Given the description of an element on the screen output the (x, y) to click on. 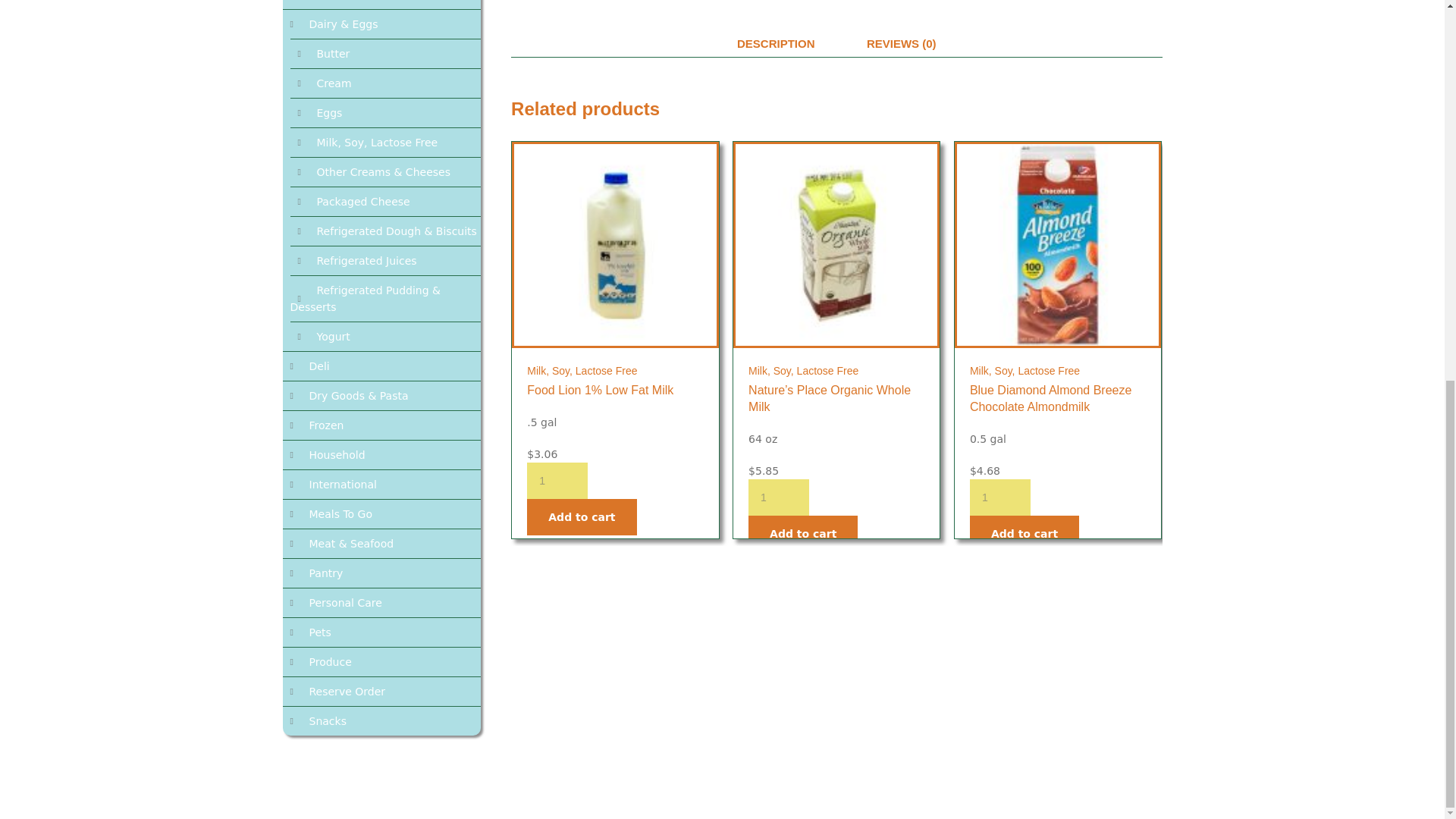
Qty (999, 497)
Butter (323, 53)
Add to cart (581, 516)
DESCRIPTION (776, 43)
Eggs (319, 112)
Add to cart (802, 533)
Milk, Soy, Lactose Free (367, 142)
1 (999, 497)
Milk, Soy, Lactose Free (803, 370)
